Given the description of an element on the screen output the (x, y) to click on. 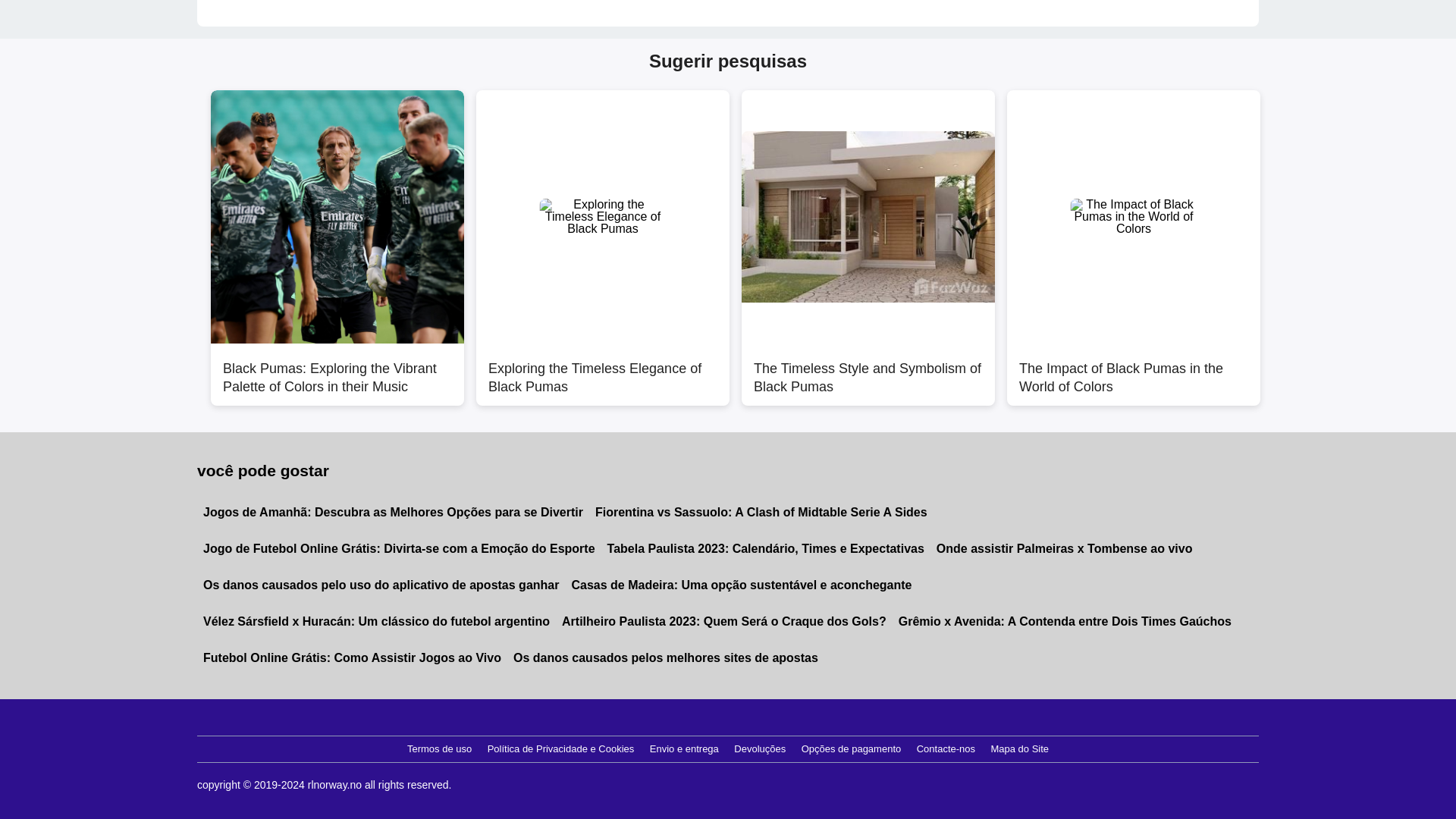
Termos de uso (439, 749)
The Timeless Style and Symbolism of Black Pumas (867, 369)
Os danos causados pelos melhores sites de apostas (665, 657)
Onde assistir Palmeiras x Tombense ao vivo (1064, 548)
Exploring the Timeless Elegance of Black Pumas (602, 369)
Fiorentina vs Sassuolo: A Clash of Midtable Serie A Sides (761, 512)
Envio e entrega (684, 749)
Os danos causados pelo uso do aplicativo de apostas ganhar (380, 585)
The Impact of Black Pumas in the World of Colors (1133, 369)
Contacte-nos (946, 749)
